Given the description of an element on the screen output the (x, y) to click on. 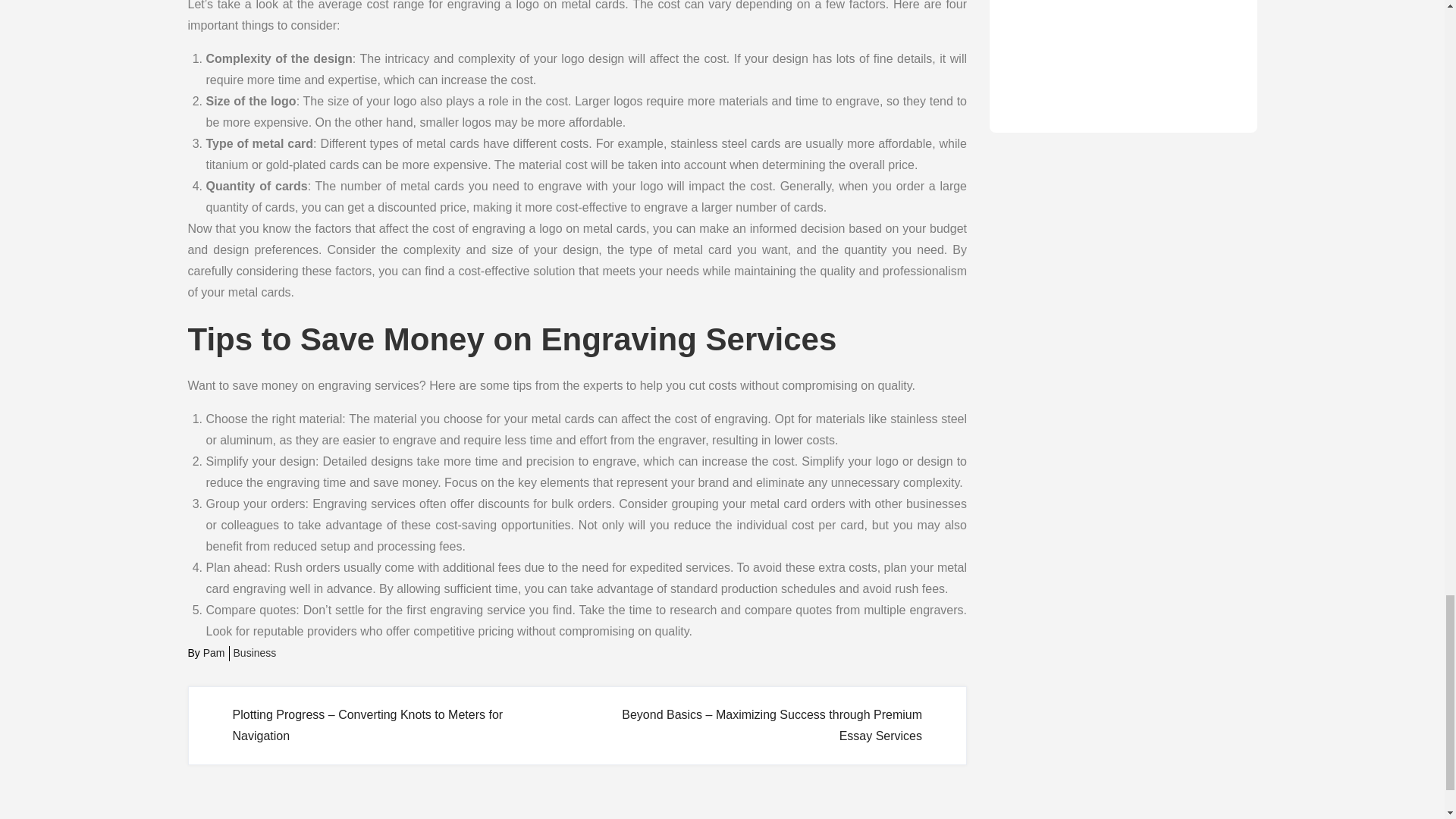
Pam (214, 653)
Business (254, 653)
